Given the description of an element on the screen output the (x, y) to click on. 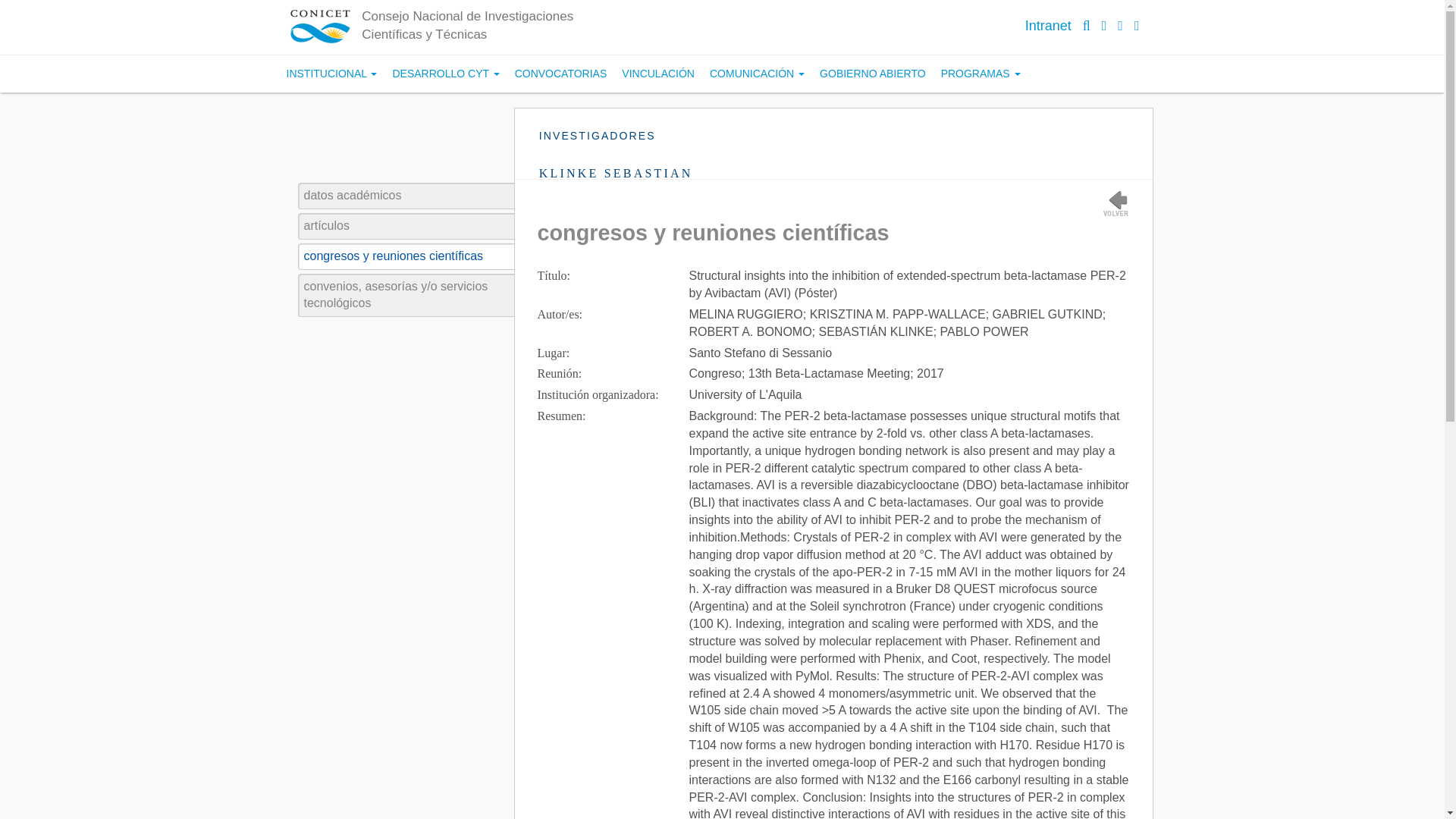
INSTITUCIONAL (332, 73)
DESARROLLO CYT (445, 73)
CONVOCATORIAS (560, 73)
PROGRAMAS (980, 73)
GOBIERNO ABIERTO (872, 73)
Intranet (1048, 25)
